Given the description of an element on the screen output the (x, y) to click on. 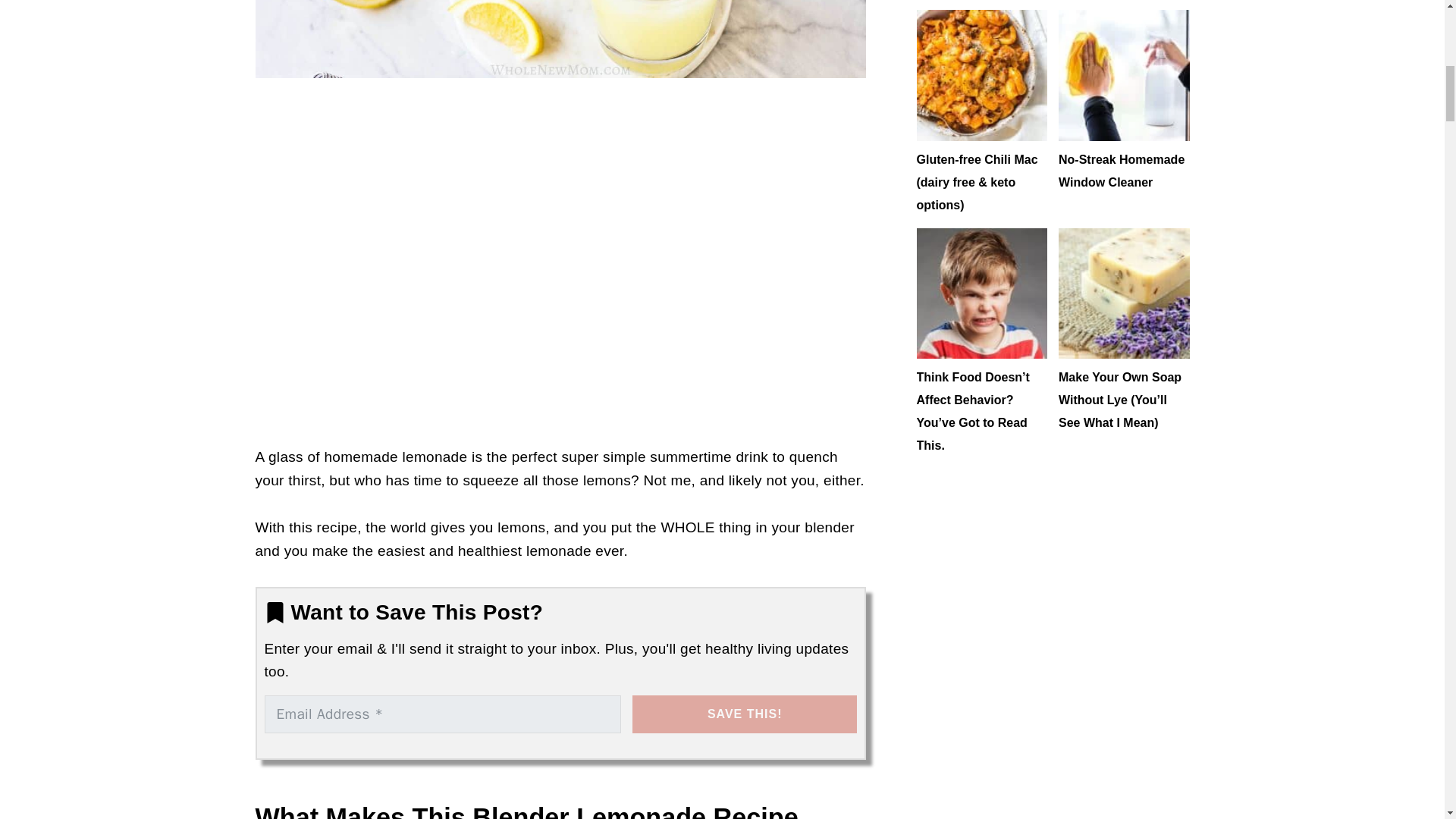
SAVE THIS! (744, 714)
whole lemon lemonade (560, 38)
